Given the description of an element on the screen output the (x, y) to click on. 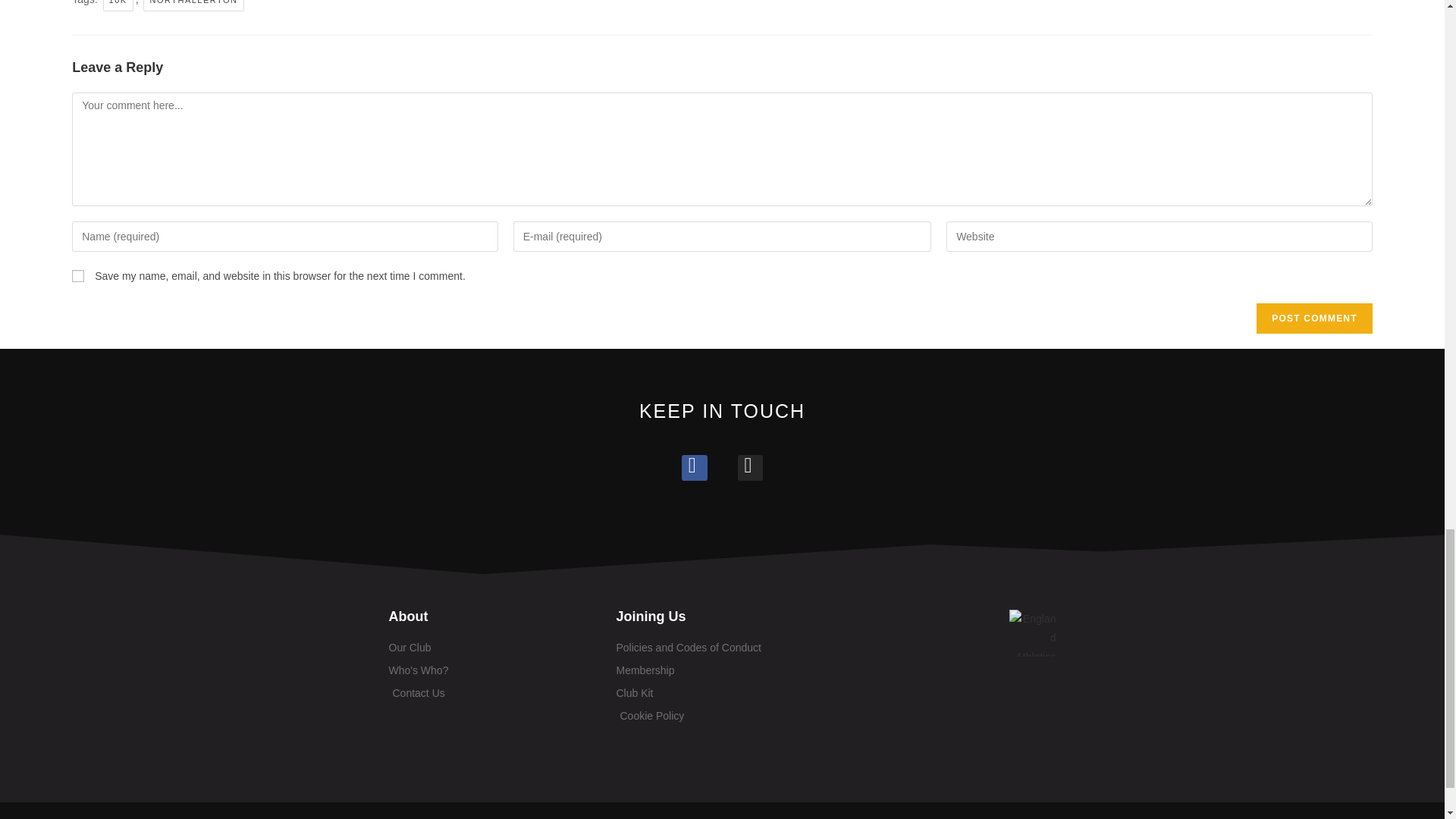
NORTHALLERTON (192, 5)
Membership (721, 670)
Cookie Policy (721, 715)
Post Comment (1313, 318)
Policies and Codes of Conduct (721, 647)
Contact Us (493, 692)
Our Club (493, 647)
yes (77, 275)
Club Kit (721, 692)
Who's Who? (493, 670)
